Given the description of an element on the screen output the (x, y) to click on. 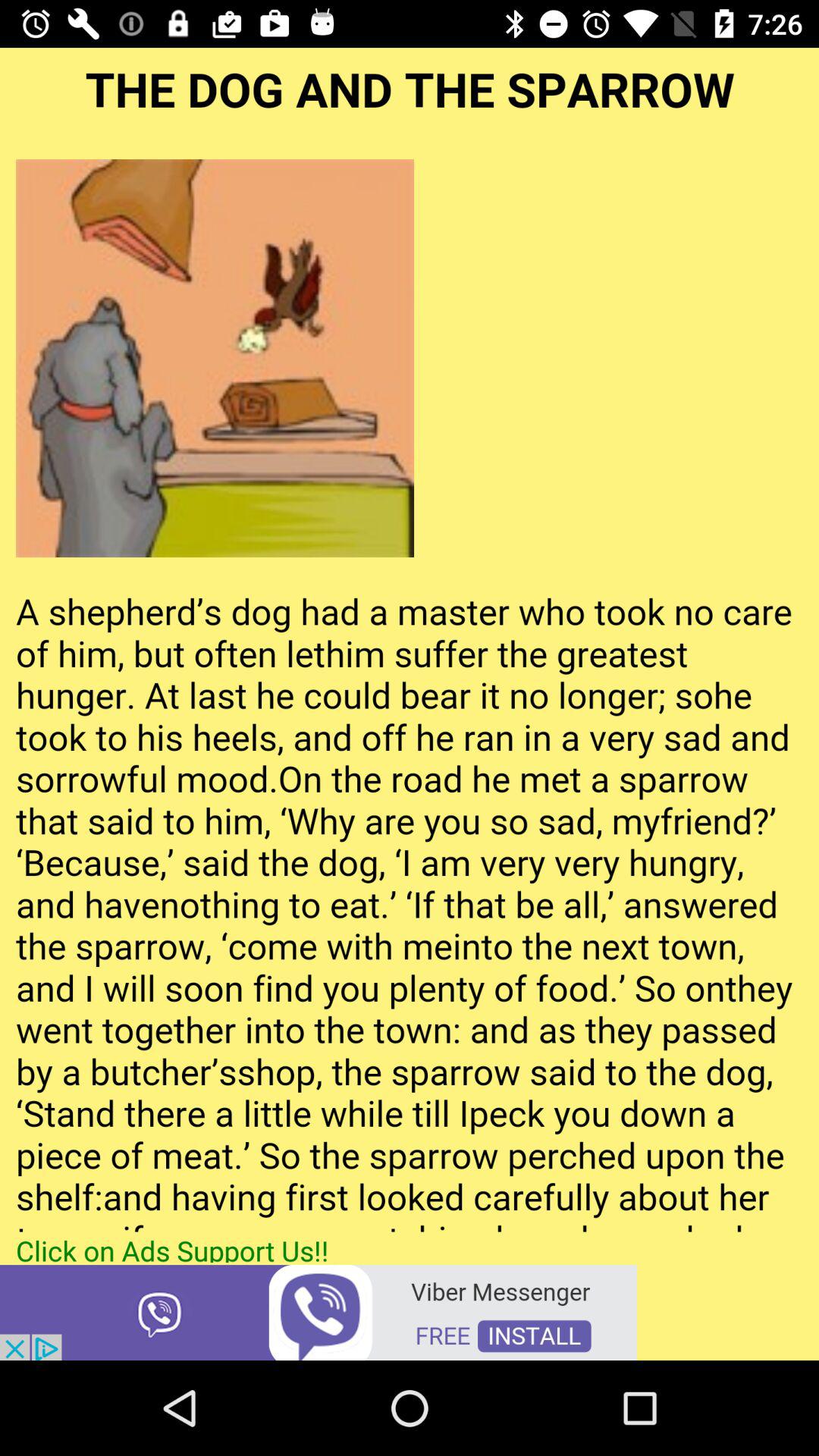
external advertisement viber messenger (318, 1311)
